Given the description of an element on the screen output the (x, y) to click on. 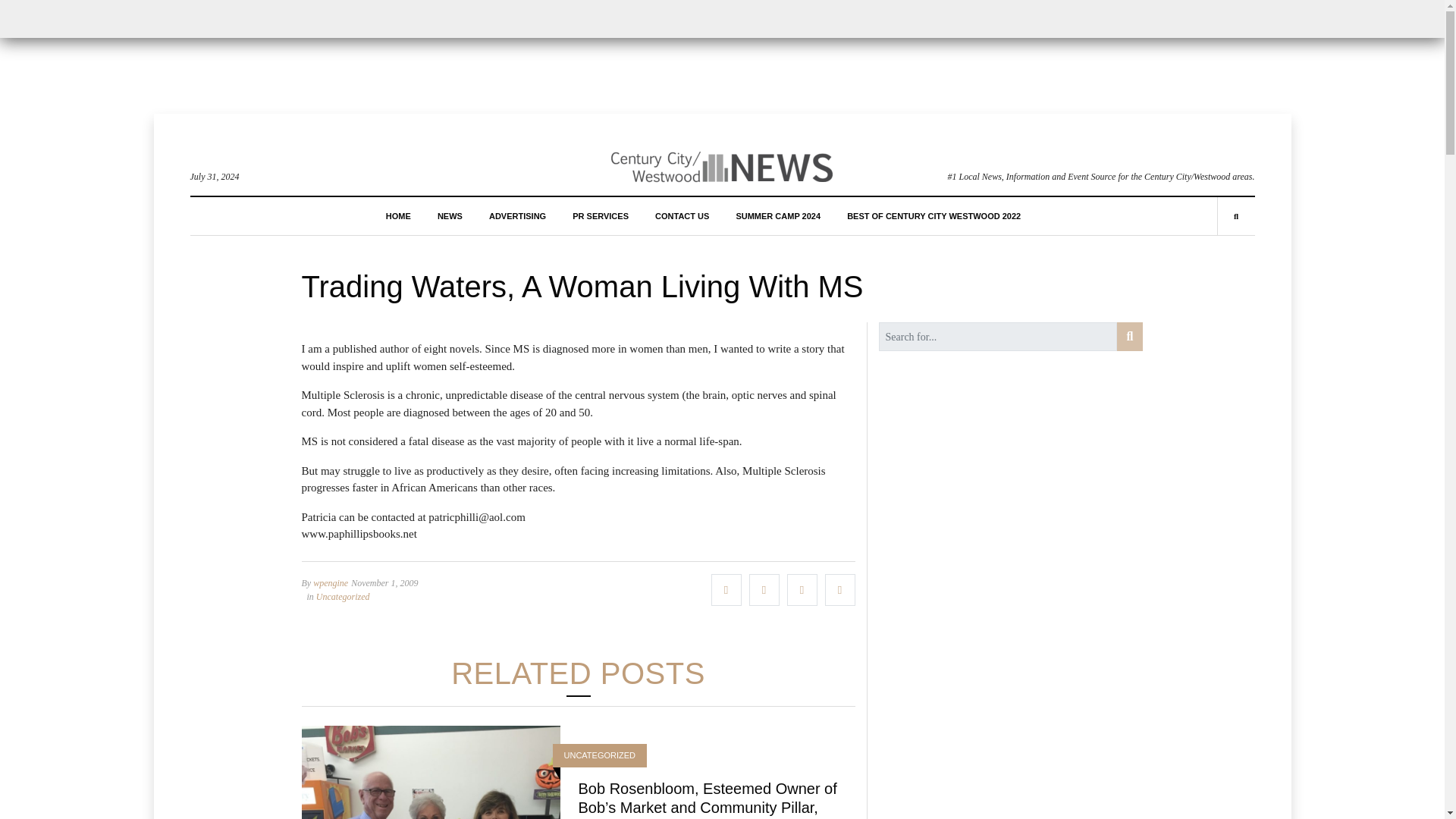
CONTACT US (682, 216)
SUMMER CAMP 2024 (778, 216)
Posts by wpengine (330, 583)
ADVERTISING (517, 216)
wpengine (330, 583)
PR SERVICES (600, 216)
BEST OF CENTURY CITY WESTWOOD 2022 (933, 216)
